Given the description of an element on the screen output the (x, y) to click on. 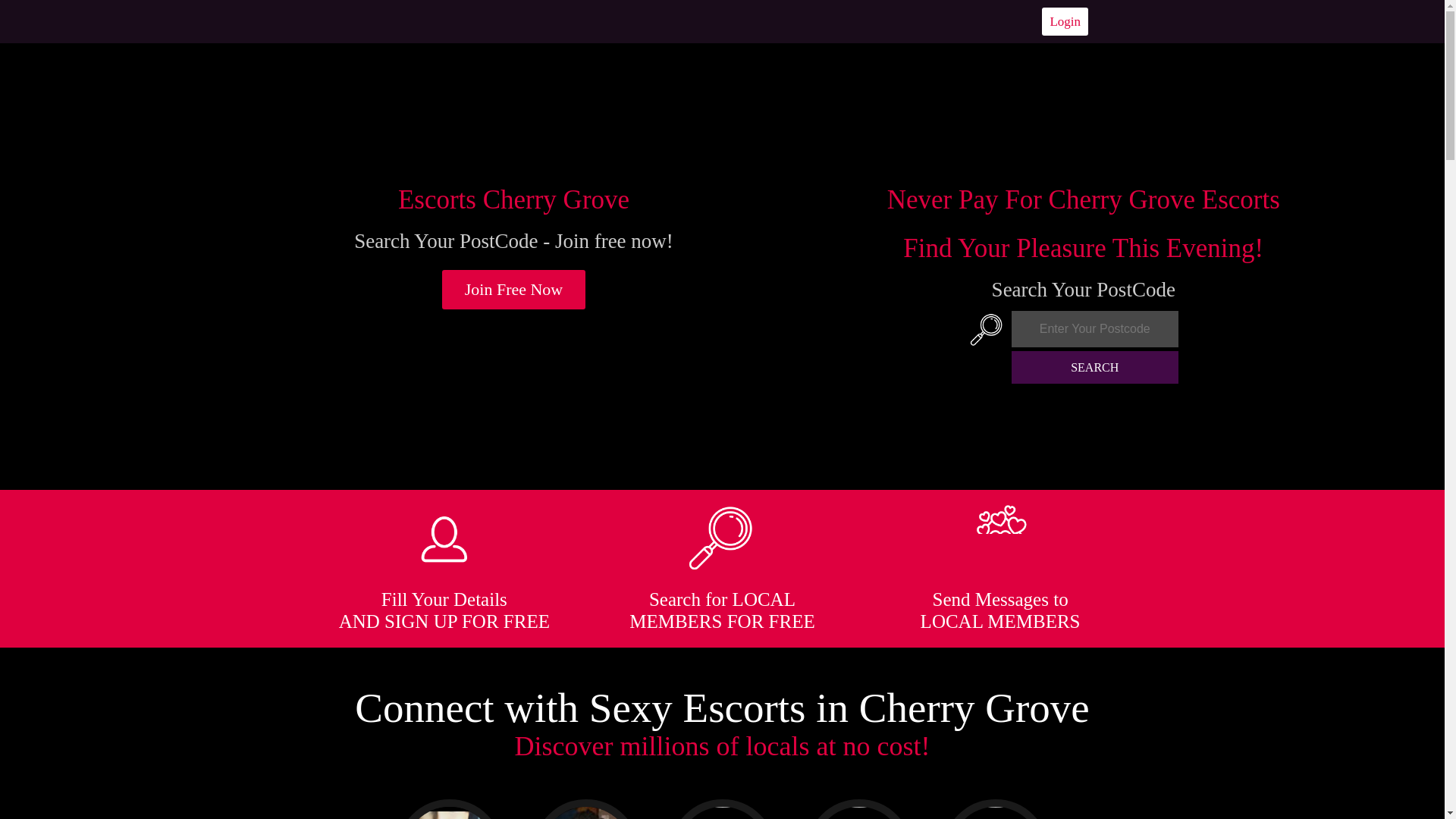
SEARCH (1094, 367)
Login (1064, 21)
Join (514, 289)
Login (1064, 21)
Join Free Now (514, 289)
